Given the description of an element on the screen output the (x, y) to click on. 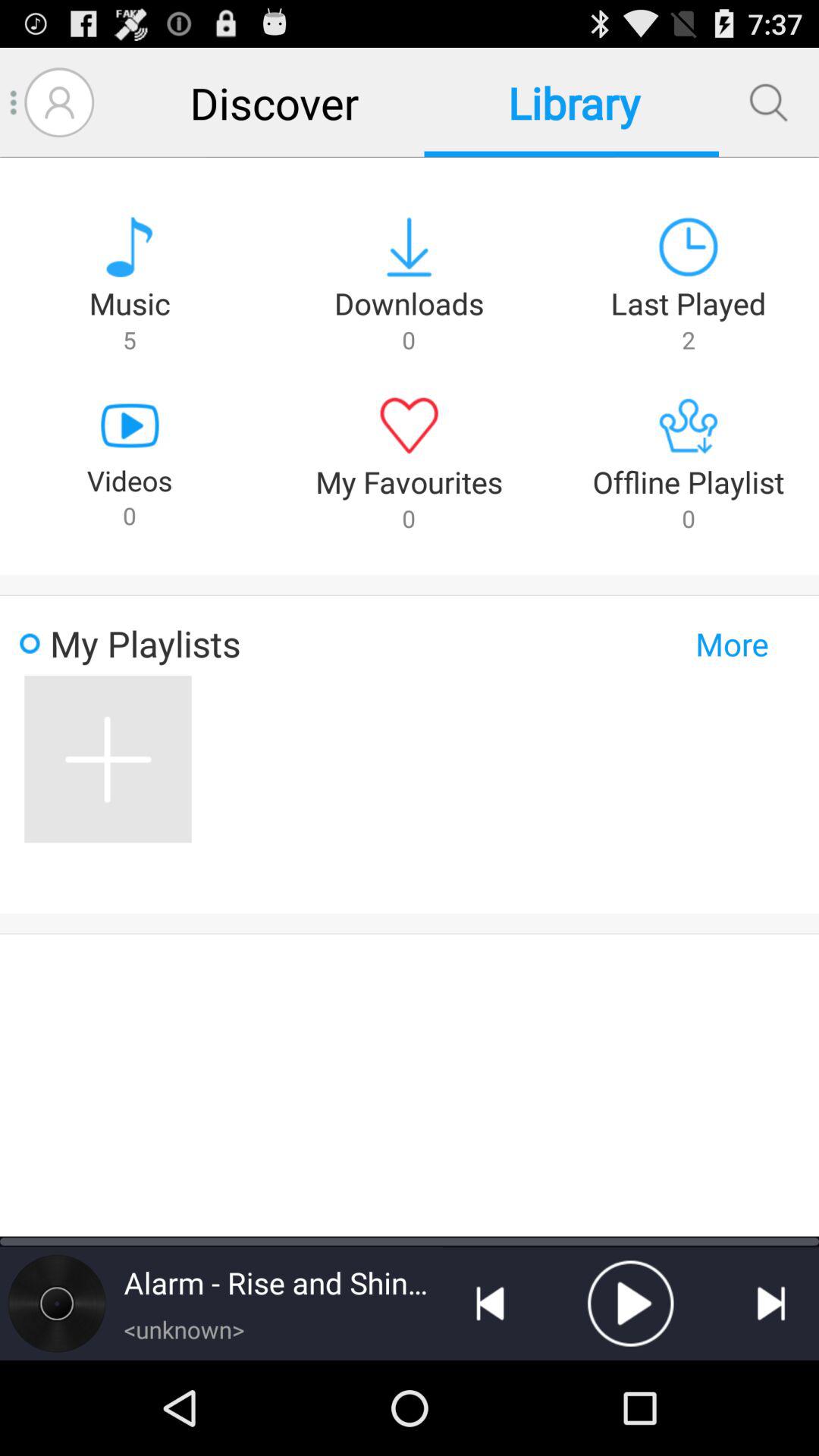
select the app to the right of the alarm rise and item (490, 1303)
